Given the description of an element on the screen output the (x, y) to click on. 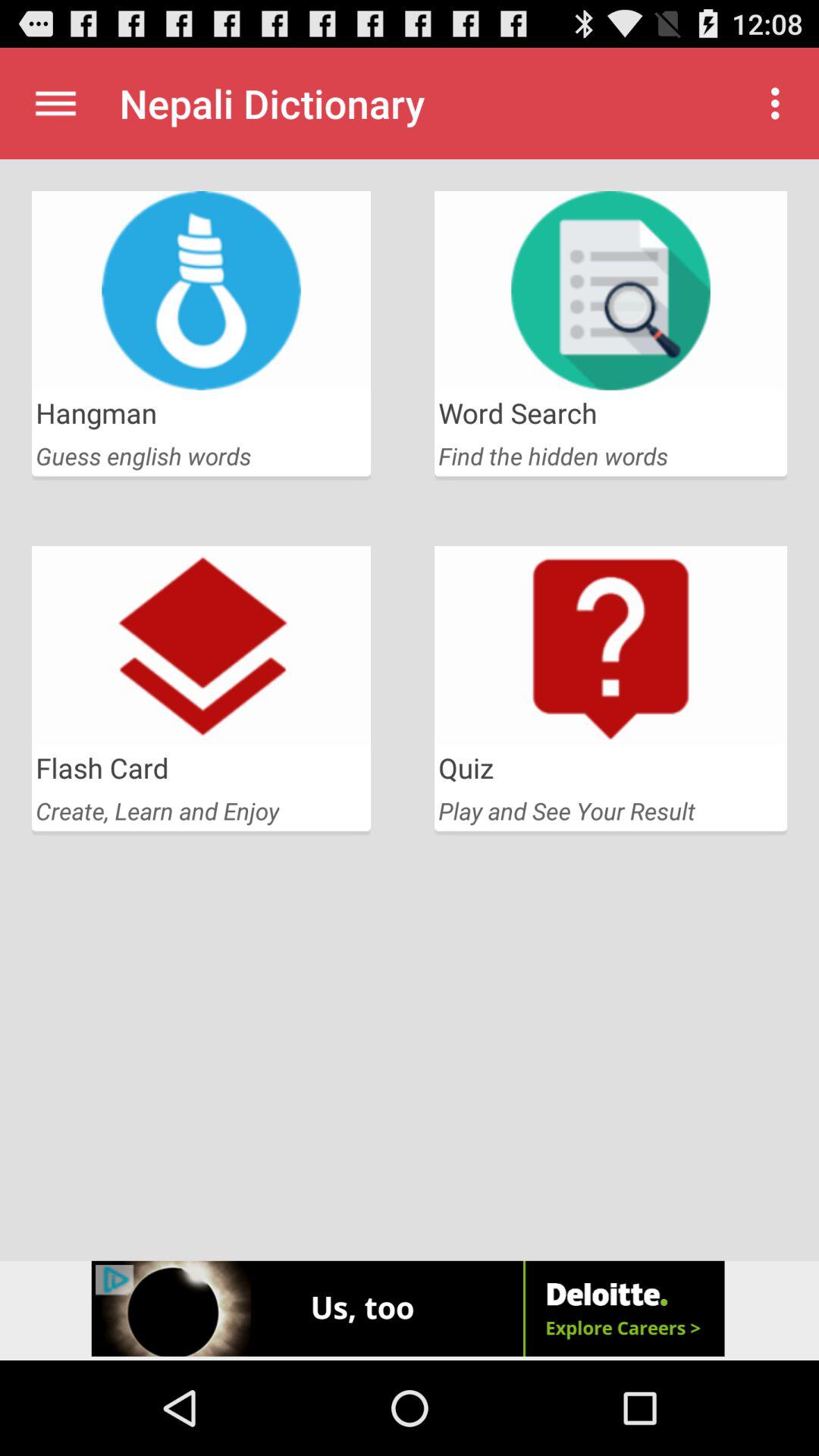
advertisement (409, 1310)
